Given the description of an element on the screen output the (x, y) to click on. 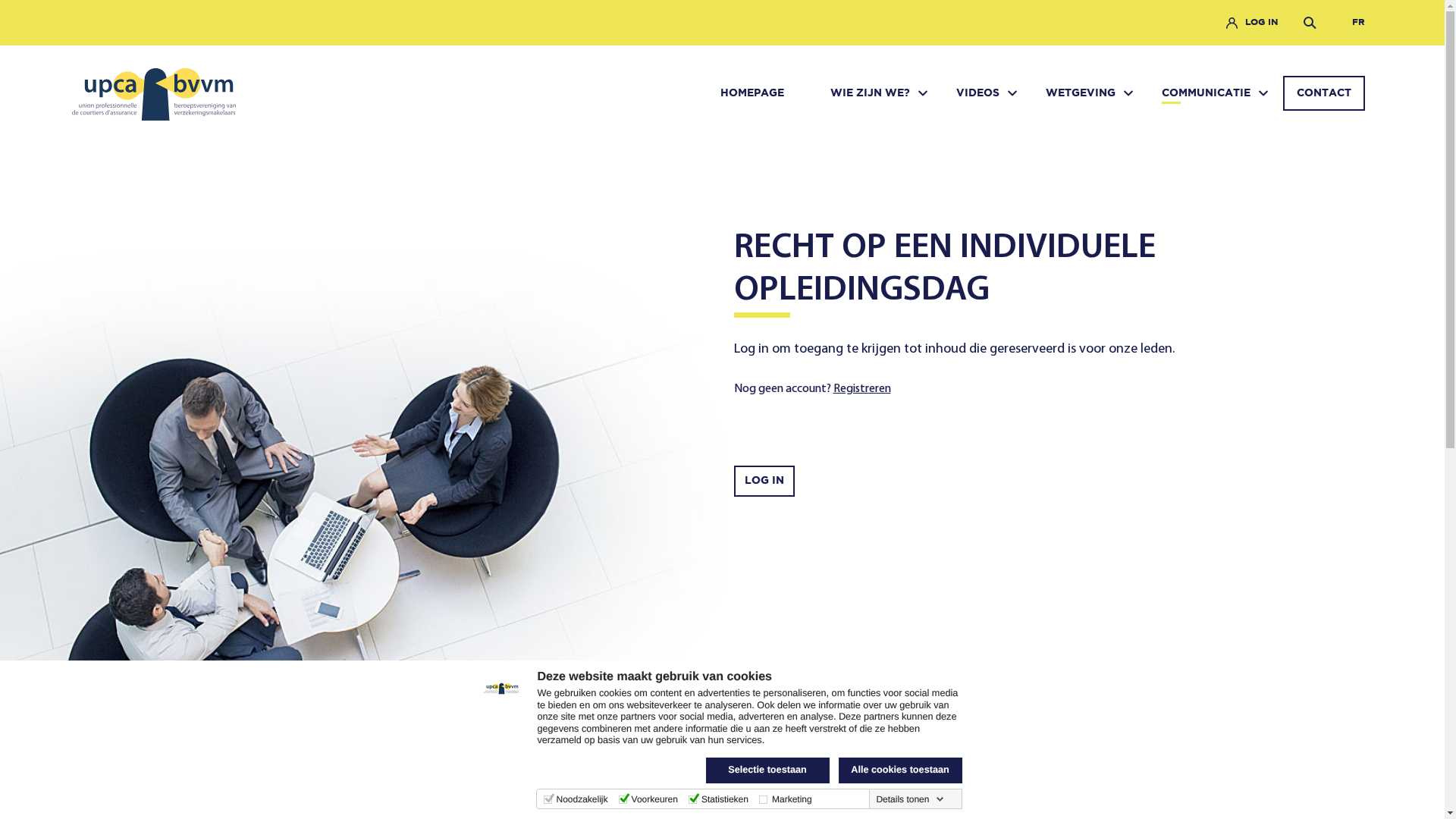
LOG IN Element type: text (764, 480)
COMMUNICATIE Element type: text (1206, 92)
Alle cookies toestaan Element type: text (900, 770)
LOG IN Element type: text (1261, 22)
Registreren Element type: text (861, 388)
FR Element type: text (1358, 22)
HOMEPAGE Element type: text (751, 92)
VIDEOS Element type: text (977, 92)
WETGEVING Element type: text (1080, 92)
Details tonen Element type: text (909, 799)
CONTACT Element type: text (1324, 92)
WIE ZIJN WE? Element type: text (869, 92)
Selectie toestaan Element type: text (766, 770)
ZOEKEN Element type: text (1310, 22)
